Given the description of an element on the screen output the (x, y) to click on. 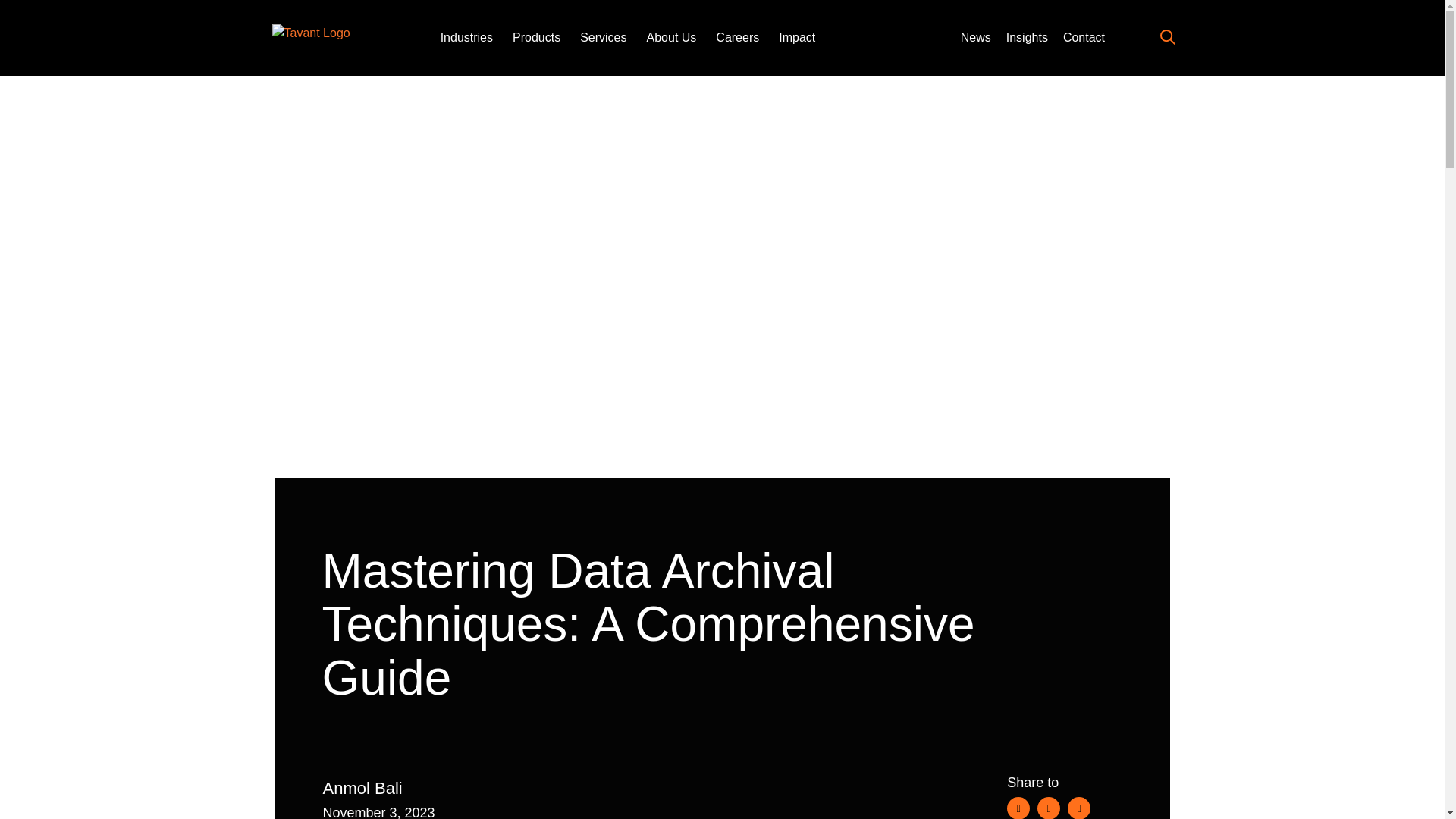
Industries (467, 37)
Products (536, 37)
Services (602, 37)
About Us (671, 37)
